Given the description of an element on the screen output the (x, y) to click on. 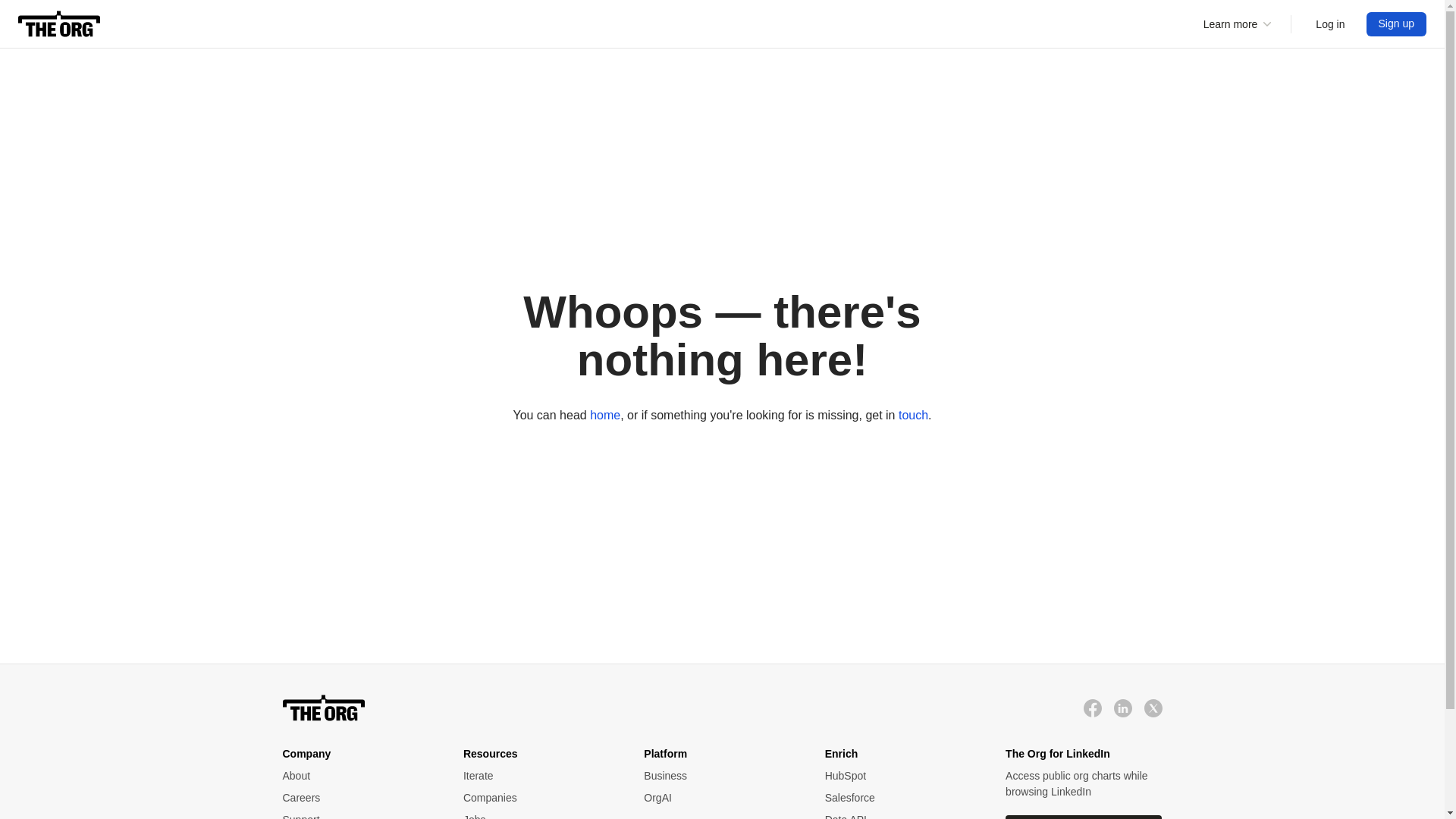
Download extension (1083, 816)
Careers (357, 797)
Companies (537, 797)
Sign up to The Org (1396, 24)
OrgAI (718, 797)
home (604, 413)
Data API (900, 815)
Iterate (537, 775)
About (357, 775)
Jobs (537, 815)
Log in to The Org (1329, 24)
LinkedIn (1122, 708)
HubSpot (900, 775)
The Org Home (58, 23)
Support (357, 815)
